Given the description of an element on the screen output the (x, y) to click on. 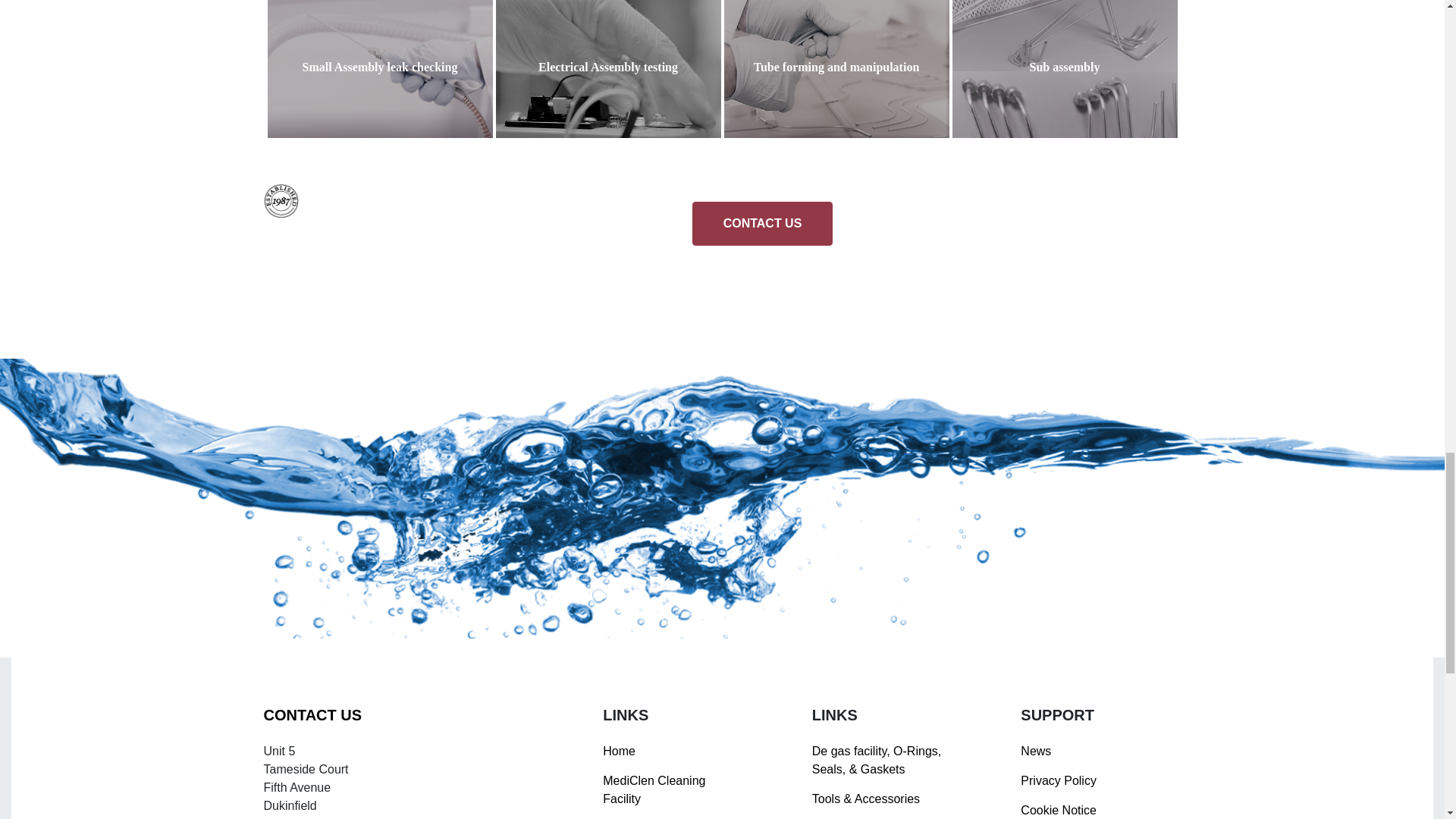
Home (618, 750)
CONTACT US (762, 223)
CONTACT US (312, 714)
Tube forming and manipulation (836, 69)
MediClen Cleaning Facility (653, 789)
Sub assembly (1064, 69)
Small Assembly leak checking (379, 69)
Electrical Assembly testing (608, 69)
